Given the description of an element on the screen output the (x, y) to click on. 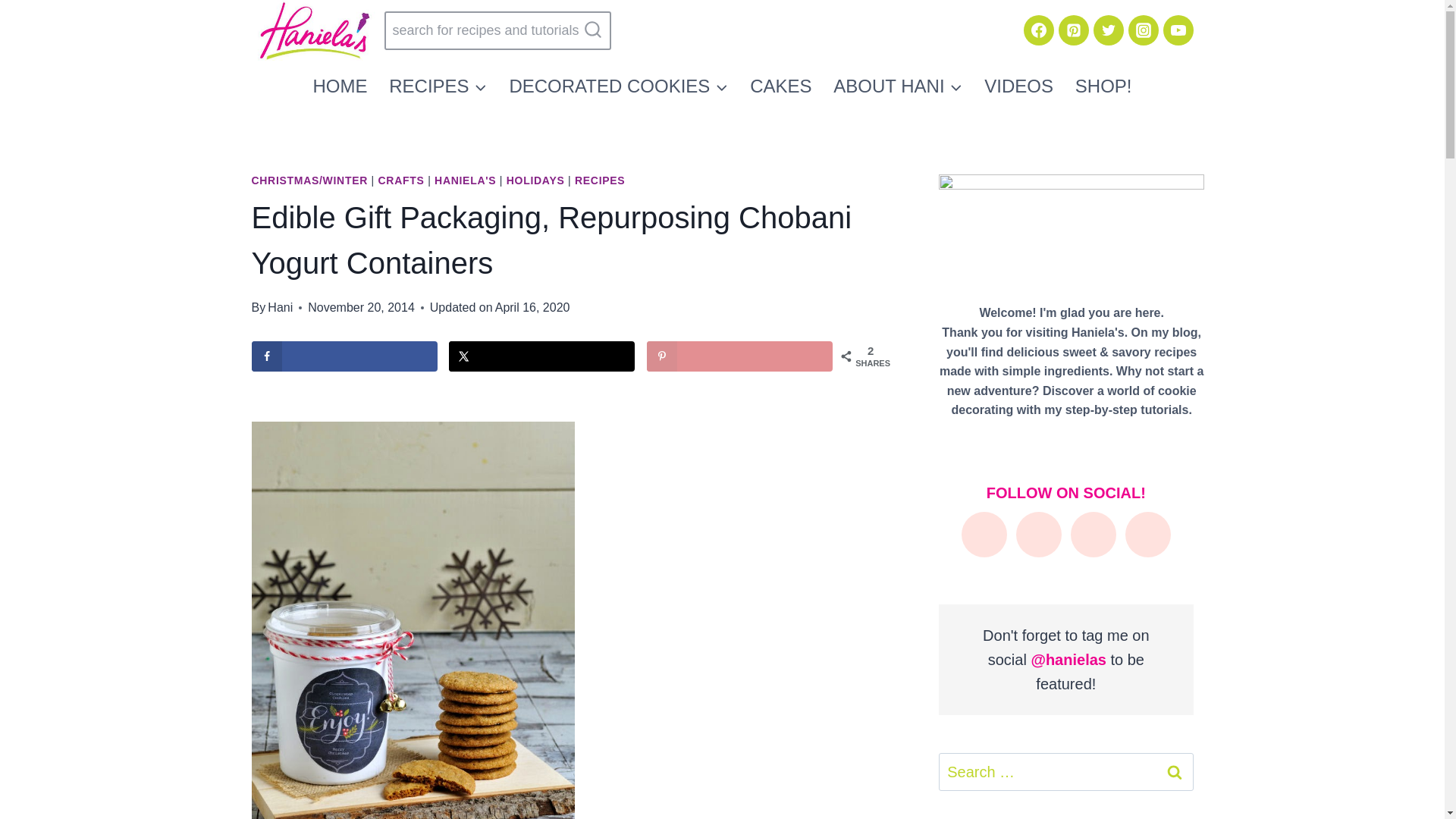
Share on Facebook (344, 356)
RECIPES (437, 85)
HOME (339, 85)
Save to Pinterest (739, 356)
search for recipes and tutorials (497, 30)
DECORATED COOKIES (618, 85)
Search (1174, 771)
Share on X (541, 356)
Search (1174, 771)
